Given the description of an element on the screen output the (x, y) to click on. 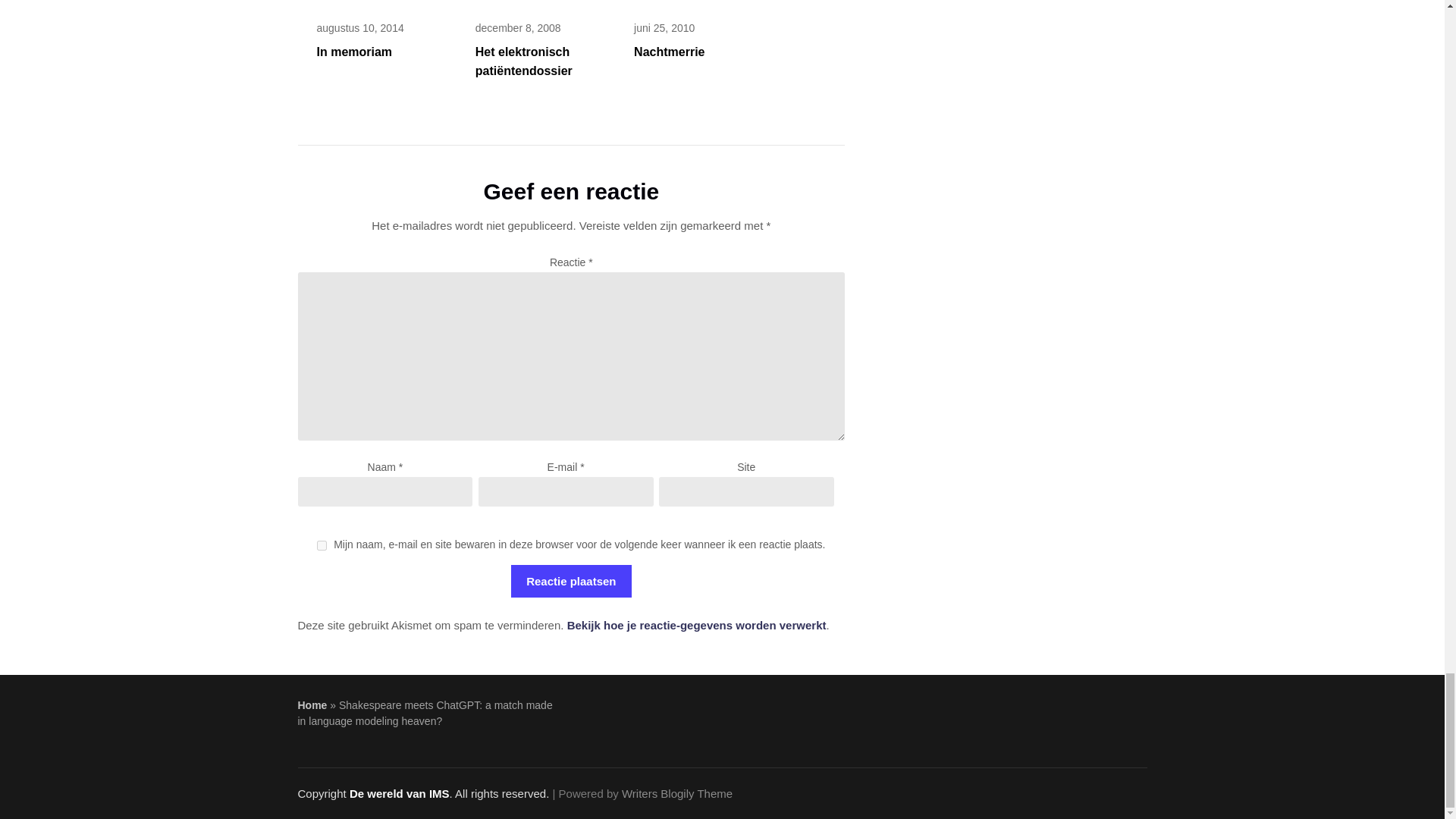
yes (321, 545)
Reactie plaatsen (570, 581)
In memoriam (355, 51)
